Given the description of an element on the screen output the (x, y) to click on. 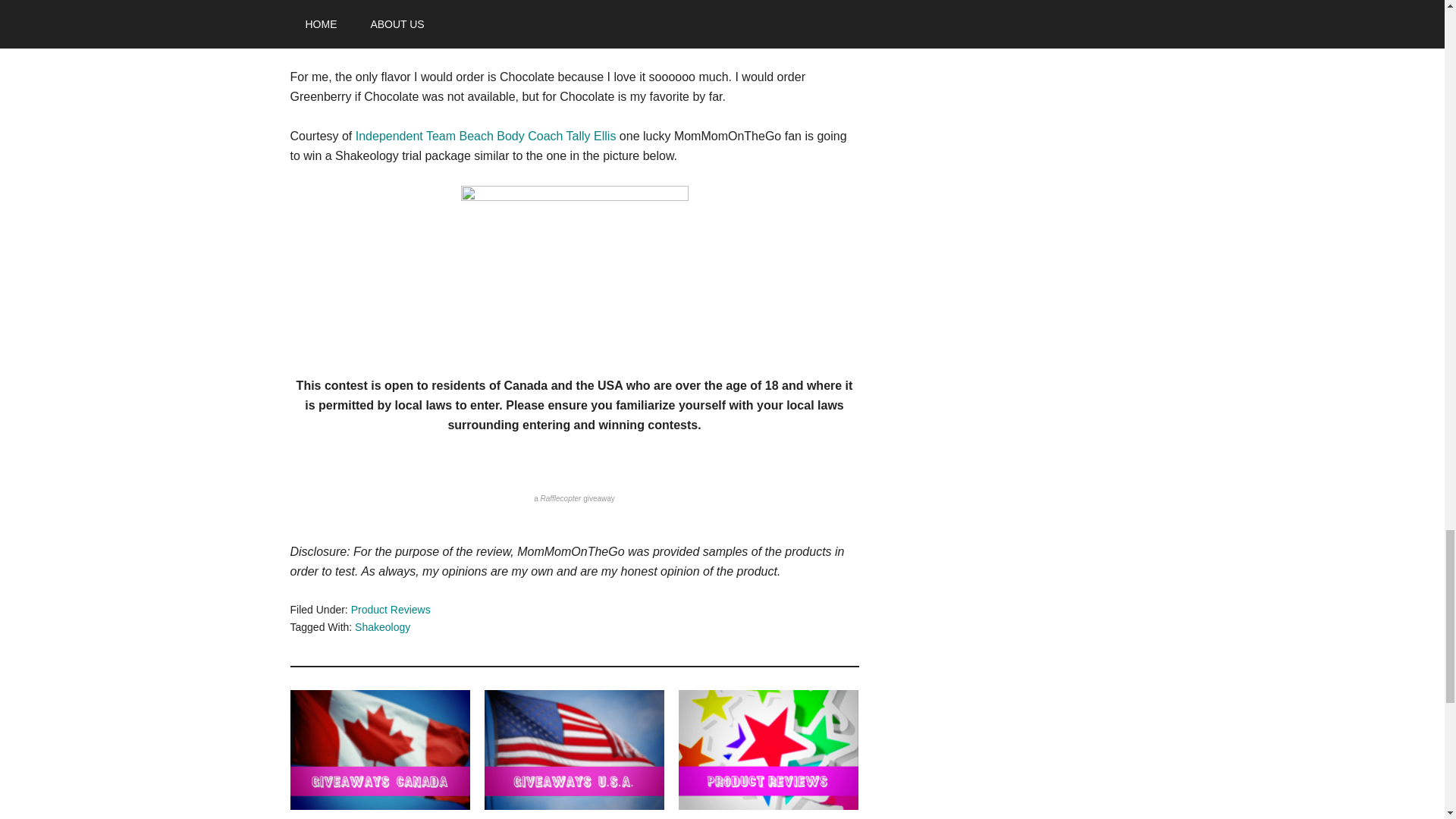
a Rafflecopter giveaway (574, 498)
Shakeology (382, 625)
Product Reviews (390, 609)
Shakeology (574, 270)
Independent Team Beach Body Coach Tally Ellis (485, 135)
